Given the description of an element on the screen output the (x, y) to click on. 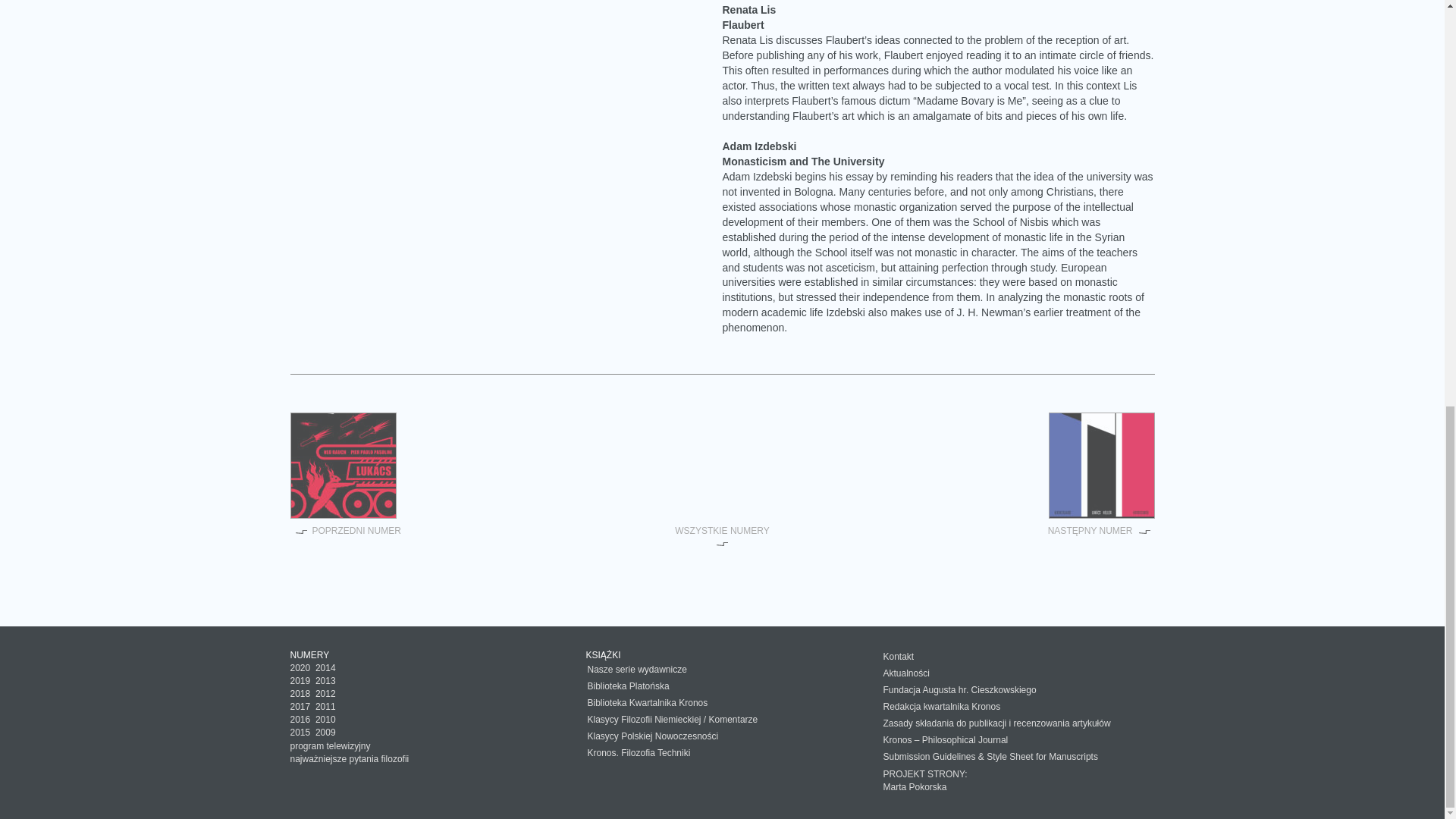
2019 (299, 680)
2018 (299, 693)
2020 (299, 667)
2014 (325, 667)
2009 (325, 732)
2010 (325, 719)
WSZYSTKIE NUMERY (721, 536)
program telewizyjny (329, 746)
2015 (299, 732)
2012 (325, 693)
2011 (325, 706)
2016 (299, 719)
POPRZEDNI NUMER (344, 530)
2013 (325, 680)
2017 (299, 706)
